Given the description of an element on the screen output the (x, y) to click on. 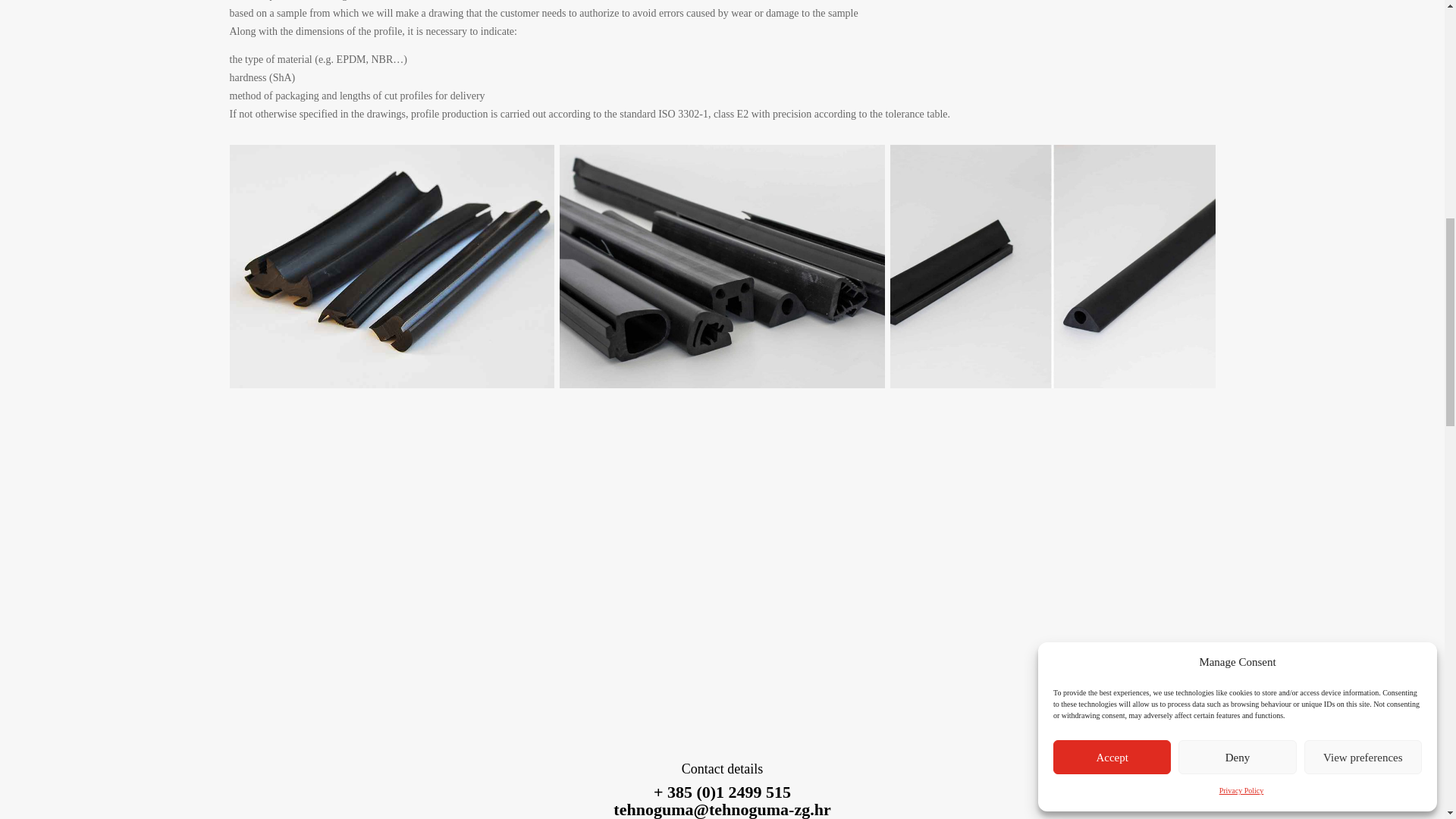
profili od tvrde gume 2 1 (391, 266)
tehnoguma gumeni profili 1 1 (722, 266)
tehnoguma gumeni profili 2 (1052, 266)
